Given the description of an element on the screen output the (x, y) to click on. 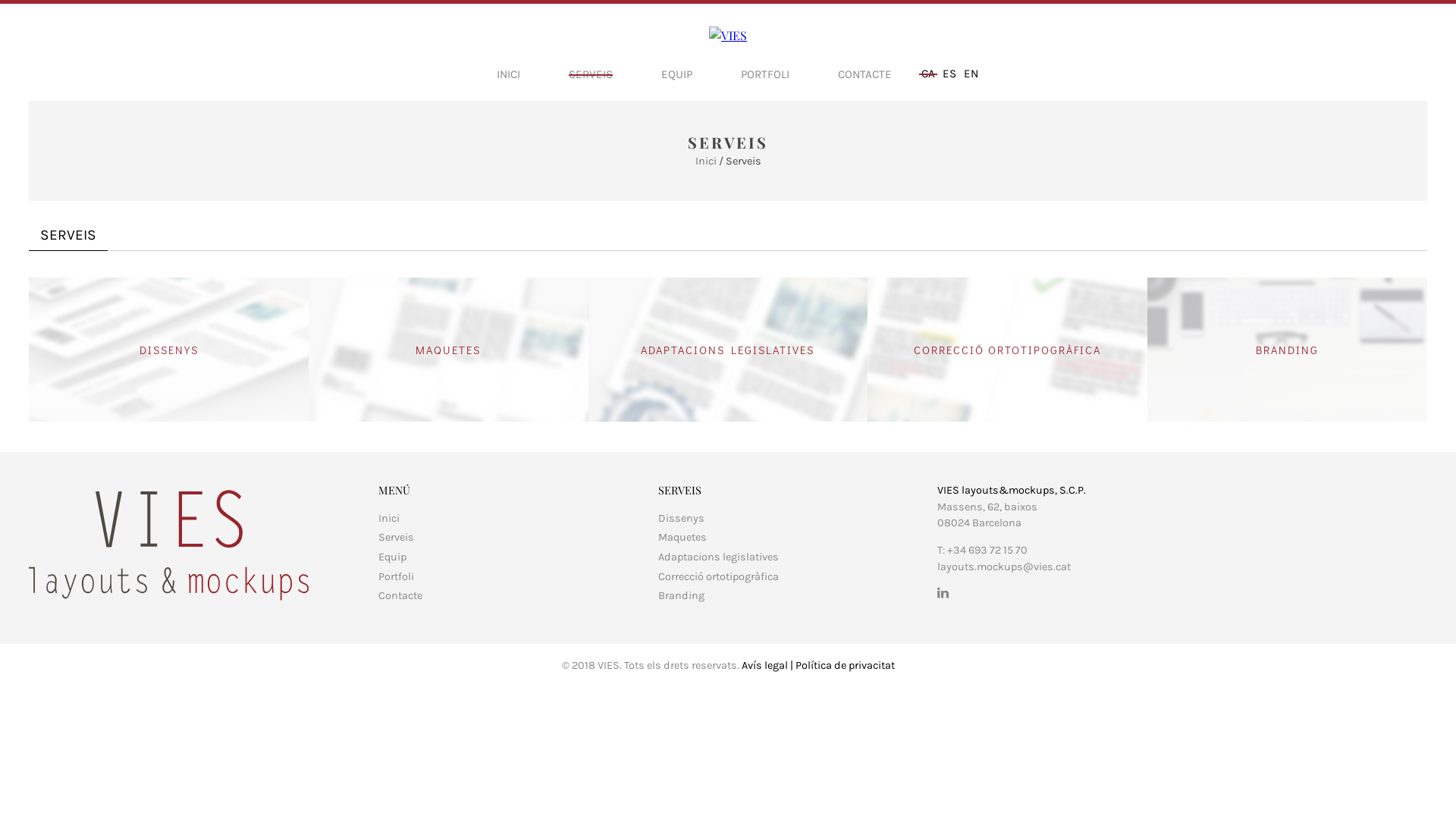
BRANDING Element type: text (1287, 349)
Adaptacions legislatives Element type: text (718, 556)
Dissenys Element type: text (681, 517)
Equip Element type: text (392, 556)
SERVEIS Element type: text (590, 74)
INICI Element type: text (508, 74)
Portfoli Element type: text (396, 576)
Contacte Element type: text (400, 595)
PORTFOLI Element type: text (764, 74)
Inici Element type: text (706, 160)
CA Element type: text (928, 73)
ES Element type: text (949, 73)
CONTACTE Element type: text (864, 74)
Inici Element type: text (388, 517)
EN Element type: text (970, 73)
EQUIP Element type: text (676, 74)
MAQUETES Element type: text (448, 349)
Maquetes Element type: text (682, 536)
ADAPTACIONS LEGISLATIVES Element type: text (728, 349)
Branding Element type: text (681, 595)
Serveis Element type: text (396, 536)
DISSENYS Element type: text (168, 349)
layouts.mockups@vies.cat Element type: text (1003, 566)
